Given the description of an element on the screen output the (x, y) to click on. 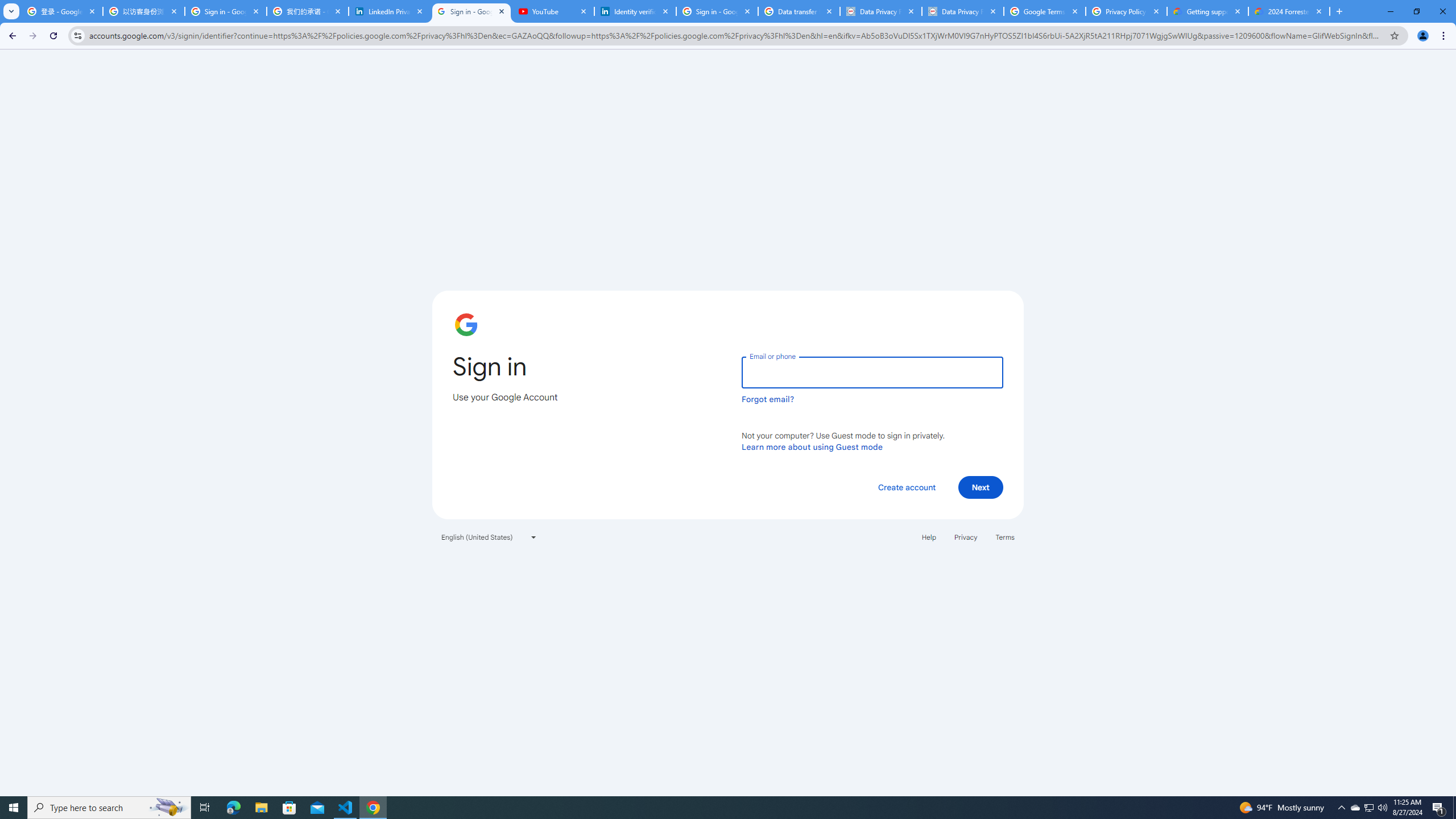
YouTube (552, 11)
Identity verification via Persona | LinkedIn Help (635, 11)
Sign in - Google Accounts (225, 11)
Next (980, 486)
Sign in - Google Accounts (470, 11)
Create account (905, 486)
